Given the description of an element on the screen output the (x, y) to click on. 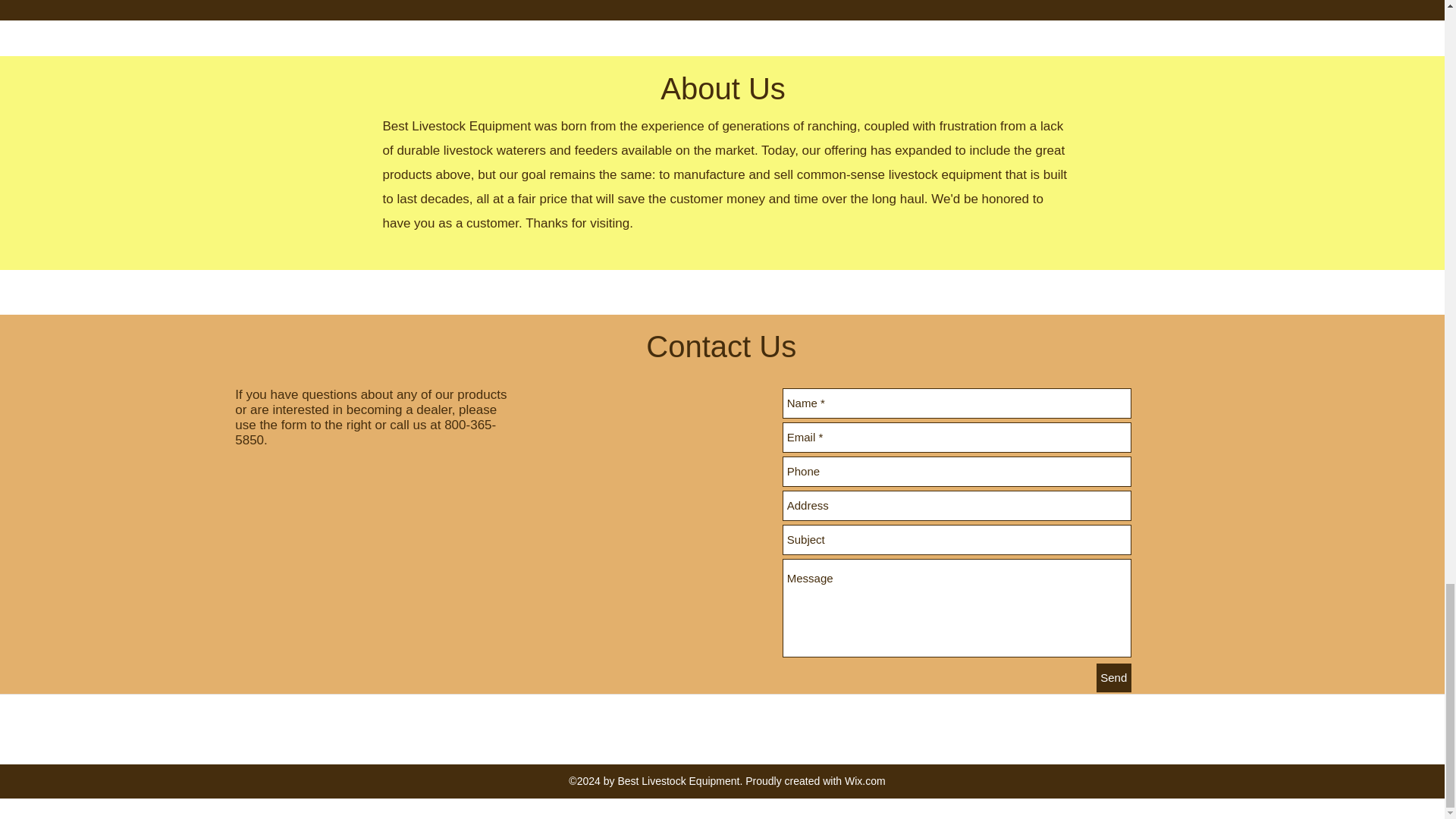
Send (1113, 677)
